Given the description of an element on the screen output the (x, y) to click on. 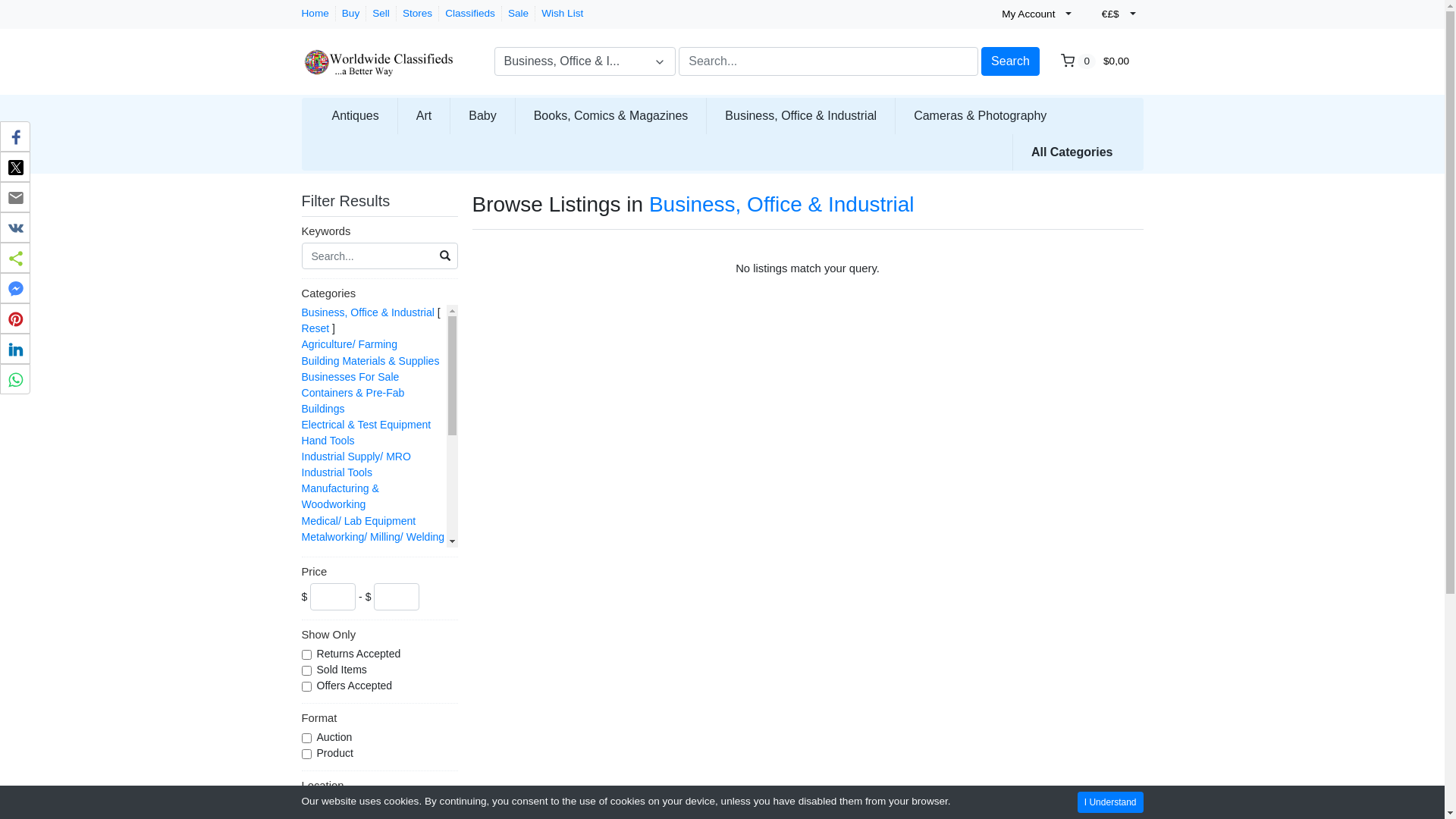
Industrial Tools Element type: text (336, 472)
Art Element type: text (423, 115)
Office Equipment & Supplies Element type: text (369, 552)
0 $0,00 Element type: text (1097, 61)
Filter Results Element type: text (355, 200)
Video Broadcasting & Recording Element type: text (352, 704)
Search Element type: text (1010, 61)
Power Tools Element type: text (330, 600)
My Account Element type: text (1035, 14)
Categories Element type: text (379, 294)
Buy Element type: text (350, 13)
Sell Element type: text (380, 13)
Hand Tools Element type: text (327, 440)
Price Element type: text (379, 573)
Wish List Element type: text (562, 13)
Building Materials & Supplies Element type: text (370, 360)
Manufacturing & Woodworking Element type: text (340, 496)
Keywords Element type: text (379, 232)
Format Element type: text (379, 719)
All Categories Element type: text (1072, 151)
Home Element type: text (315, 13)
Retail & Shop Fitting Element type: text (349, 648)
Telephone & Answering Systems Element type: text (357, 672)
Businesses For Sale Element type: text (350, 376)
Printing & Graphic Arts Element type: text (355, 616)
Classifieds Element type: text (470, 13)
Reset Element type: text (315, 328)
Medical/ Lab Equipment Element type: text (358, 520)
Metalworking/ Milling/ Welding Element type: text (373, 536)
Antiques Element type: text (355, 115)
Books, Comics & Magazines Element type: text (610, 115)
Web Domains/ Email/ Software Element type: text (352, 736)
Industrial Supply/ MRO Element type: text (356, 456)
Worldwide Classifieds Element type: hover (377, 56)
Location Element type: text (379, 787)
Business, Office & Industrial Element type: text (781, 204)
Business, Office & Industrial Element type: text (800, 115)
Sale Element type: text (518, 13)
Packing & Posting Supplies Element type: text (366, 584)
Cameras & Photography Element type: text (979, 115)
Baby Element type: text (481, 115)
Stores Element type: text (417, 13)
Agriculture/ Farming Element type: text (349, 344)
Business, Office & Industrial Element type: text (367, 312)
Containers & Pre-Fab Buildings Element type: text (352, 400)
I Understand Element type: text (1110, 801)
Restaurant & Catering Element type: text (354, 632)
Other Business & Industrial Element type: text (365, 568)
Show Only Element type: text (379, 636)
Electrical & Test Equipment Element type: text (366, 424)
Business, Office & I... Element type: text (585, 61)
